Given the description of an element on the screen output the (x, y) to click on. 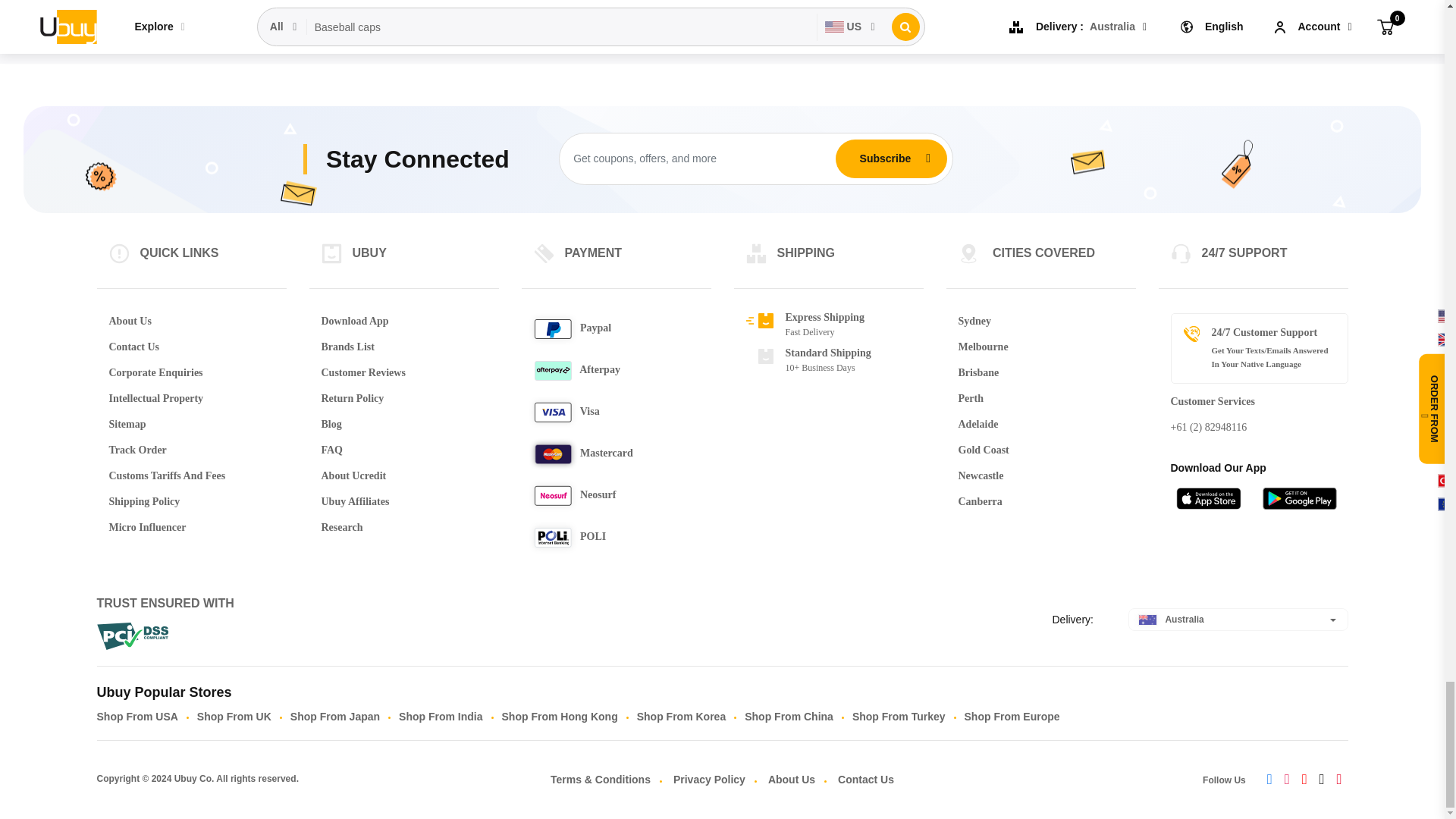
Subscribe (885, 158)
